Given the description of an element on the screen output the (x, y) to click on. 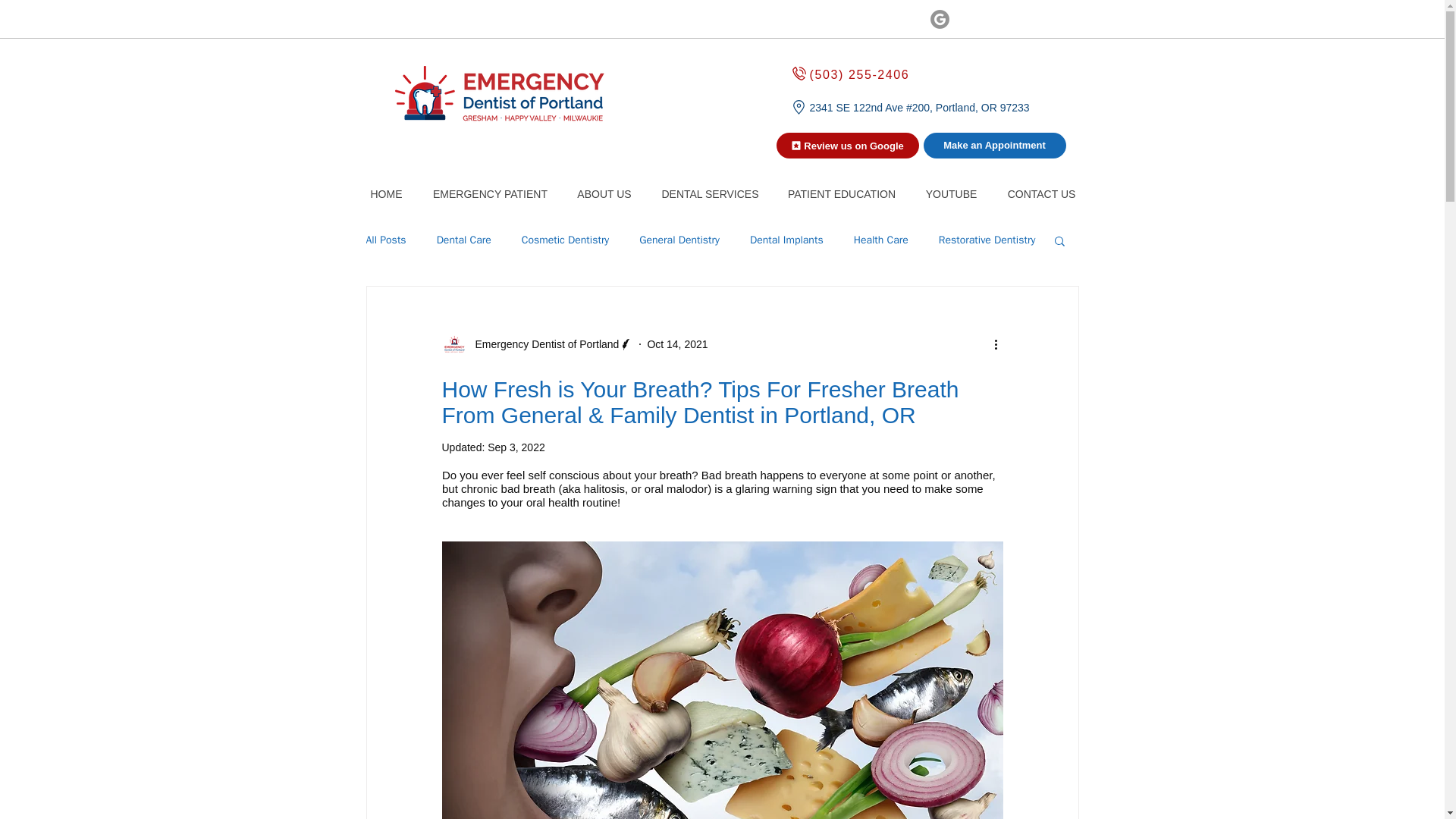
Oct 14, 2021 (676, 344)
DENTAL SERVICES (710, 186)
Make an Appointment (994, 145)
Sep 3, 2022 (515, 447)
EMERGENCY PATIENT (489, 186)
YOUTUBE (950, 186)
HOME (386, 186)
Emergency Dentist of Portland (541, 344)
Review us on Google (847, 145)
